Given the description of an element on the screen output the (x, y) to click on. 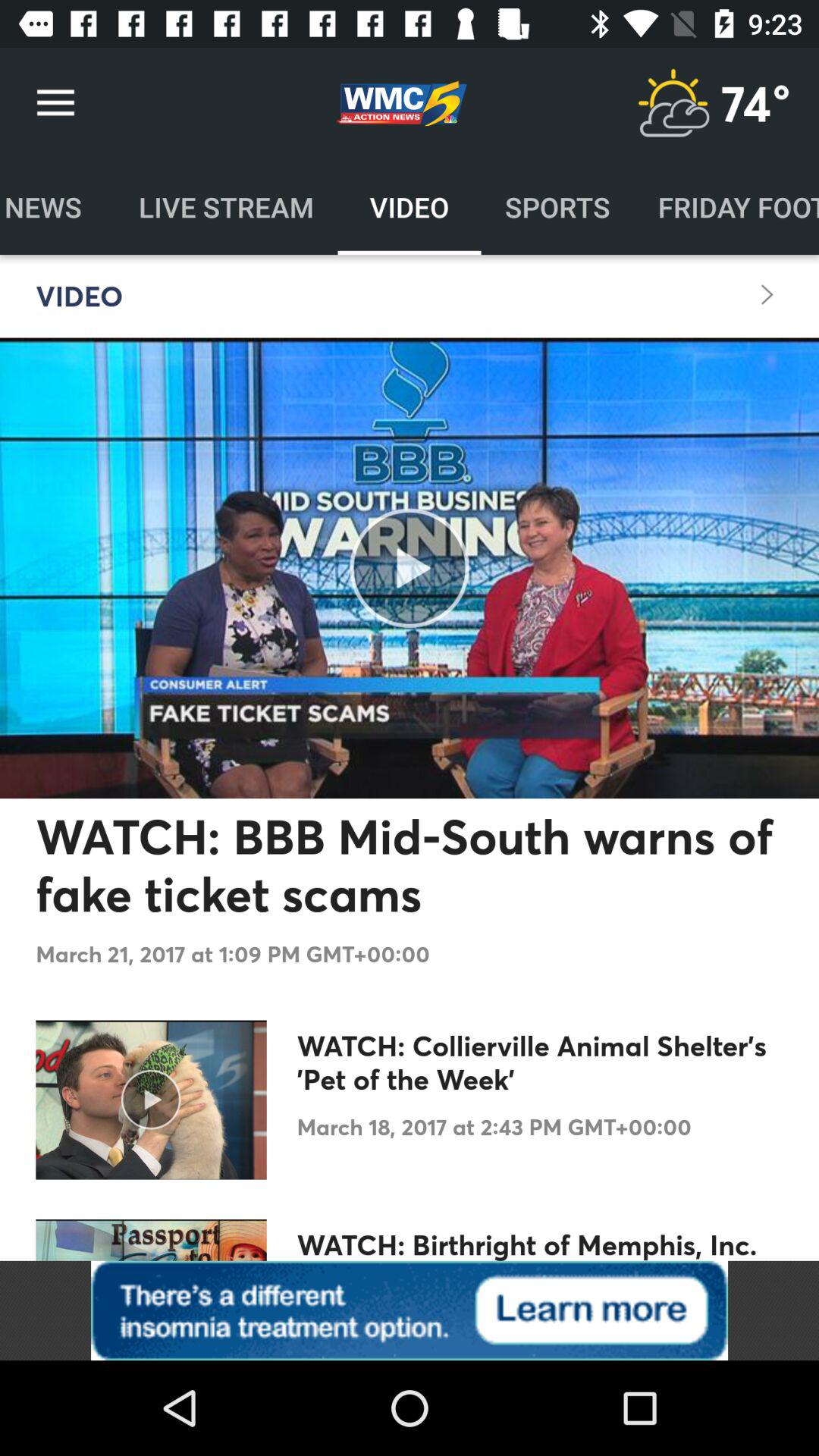
tap the icon above friday football fever (756, 102)
